Given the description of an element on the screen output the (x, y) to click on. 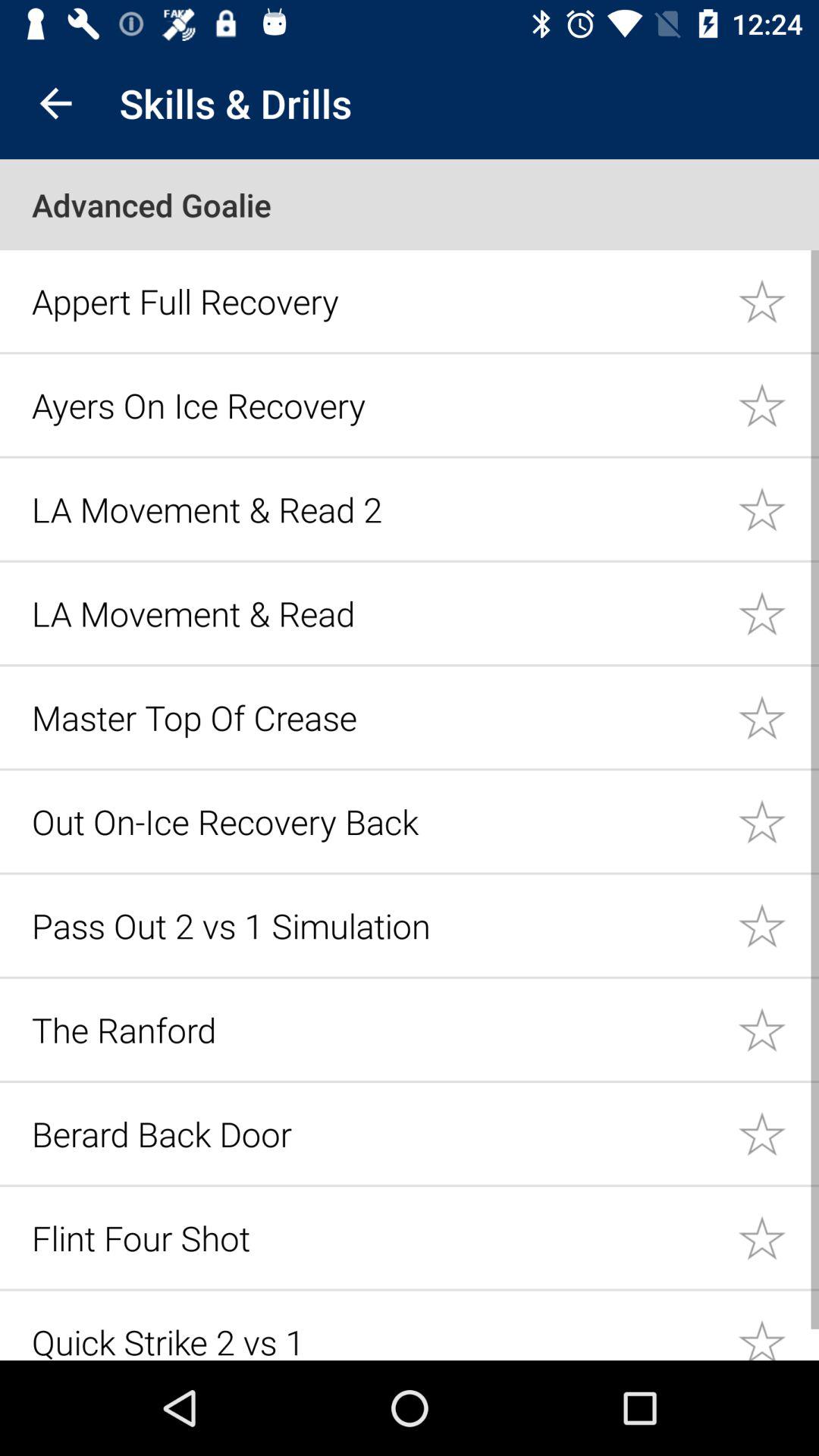
click icon above out on ice icon (376, 717)
